Given the description of an element on the screen output the (x, y) to click on. 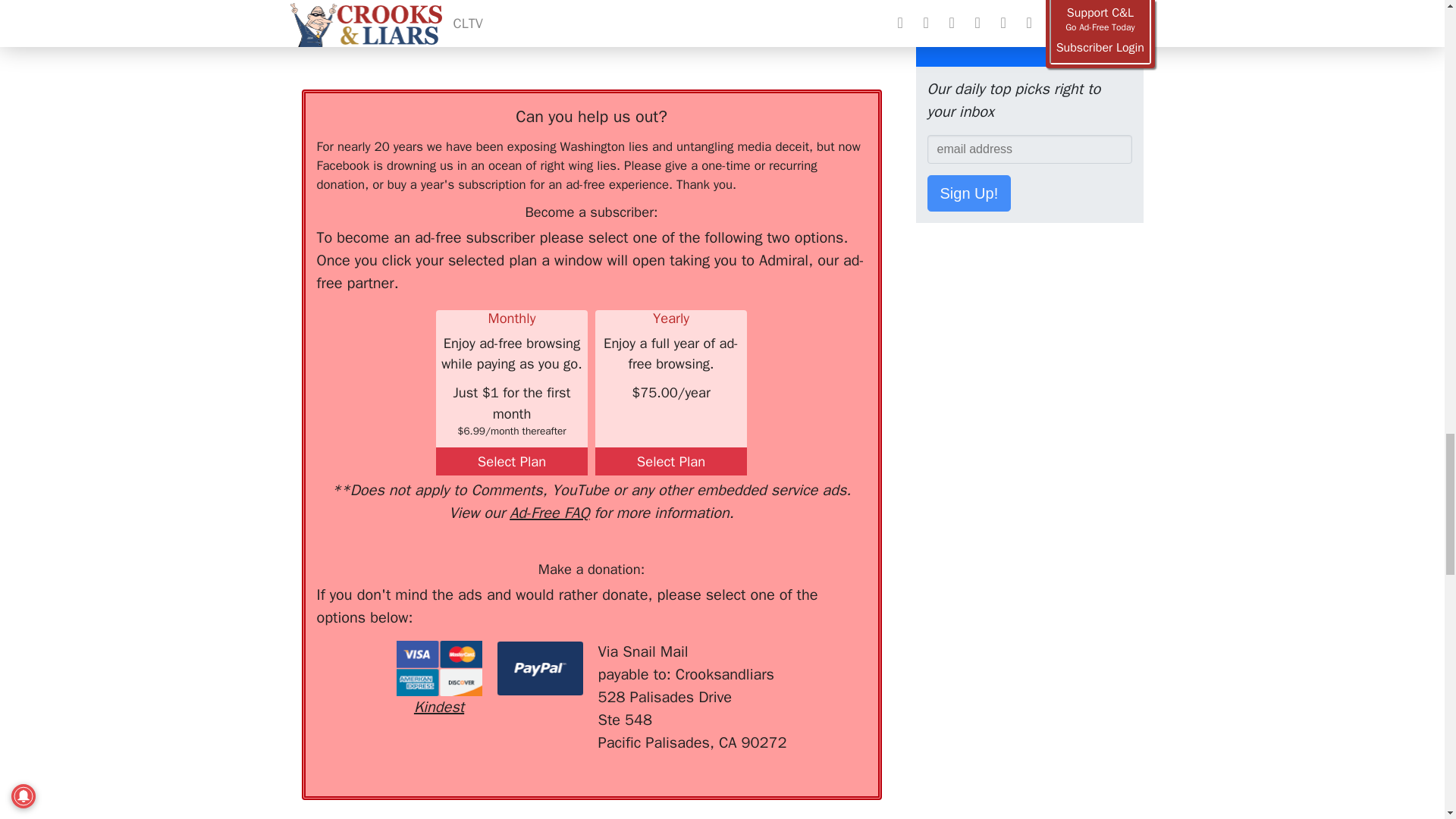
Donate via PayPal (540, 668)
Donate via Kindest (438, 679)
